Given the description of an element on the screen output the (x, y) to click on. 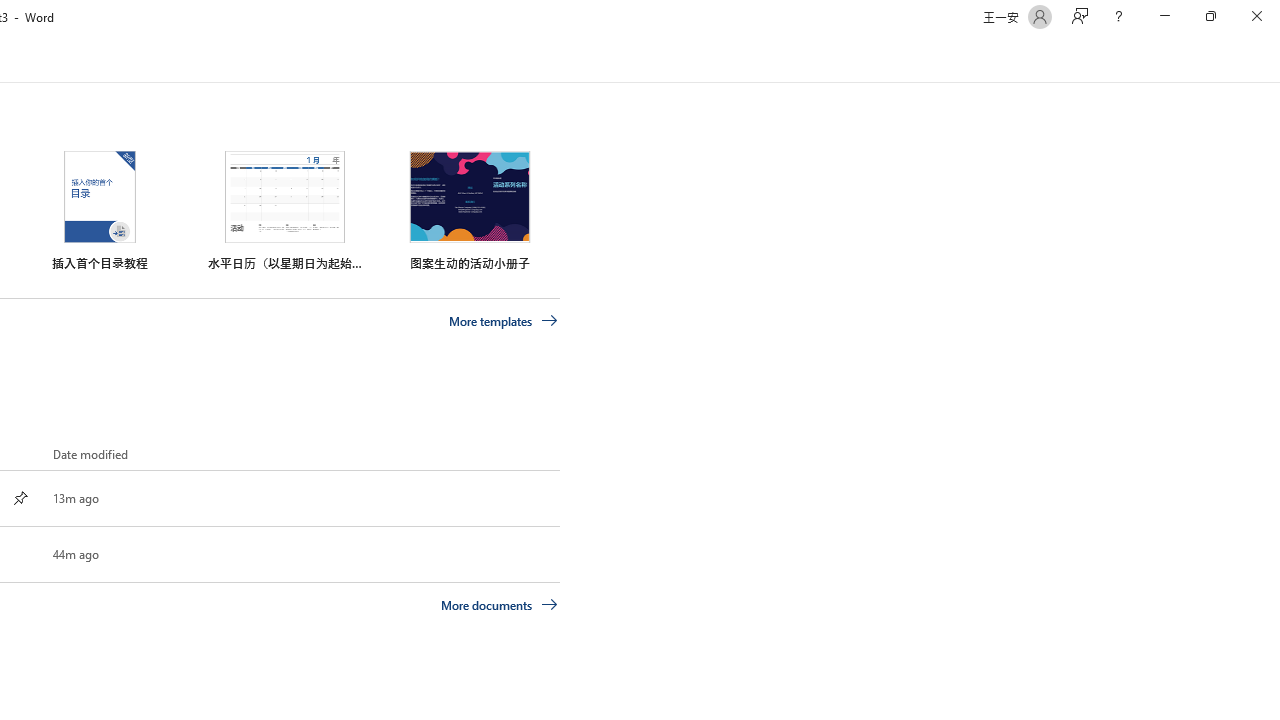
More templates (503, 321)
Unpin this item from the list (20, 497)
More documents (499, 604)
Class: NetUIScrollBar (1271, 59)
Pin this item to the list (20, 553)
